Given the description of an element on the screen output the (x, y) to click on. 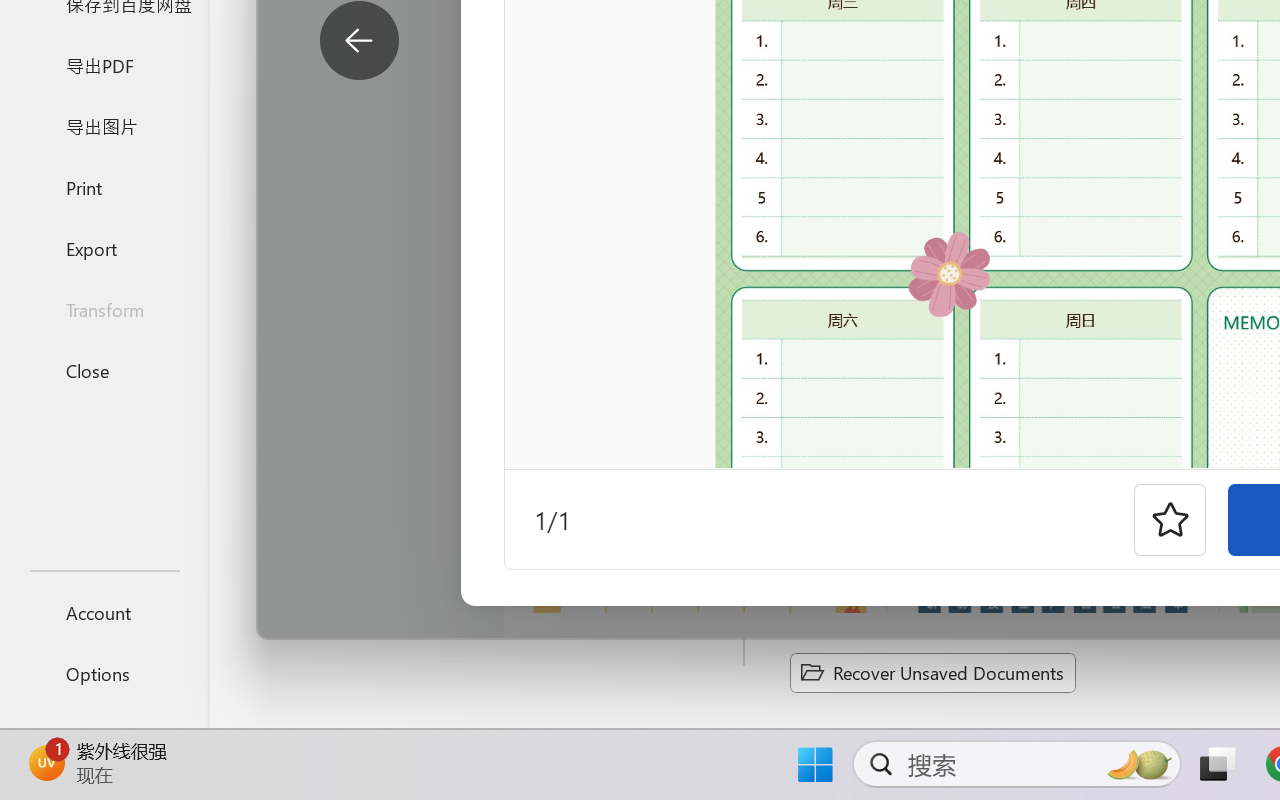
Account (104, 612)
Transform (104, 309)
Export (104, 248)
Print (104, 186)
Options (104, 673)
Recover Unsaved Documents (932, 672)
